Given the description of an element on the screen output the (x, y) to click on. 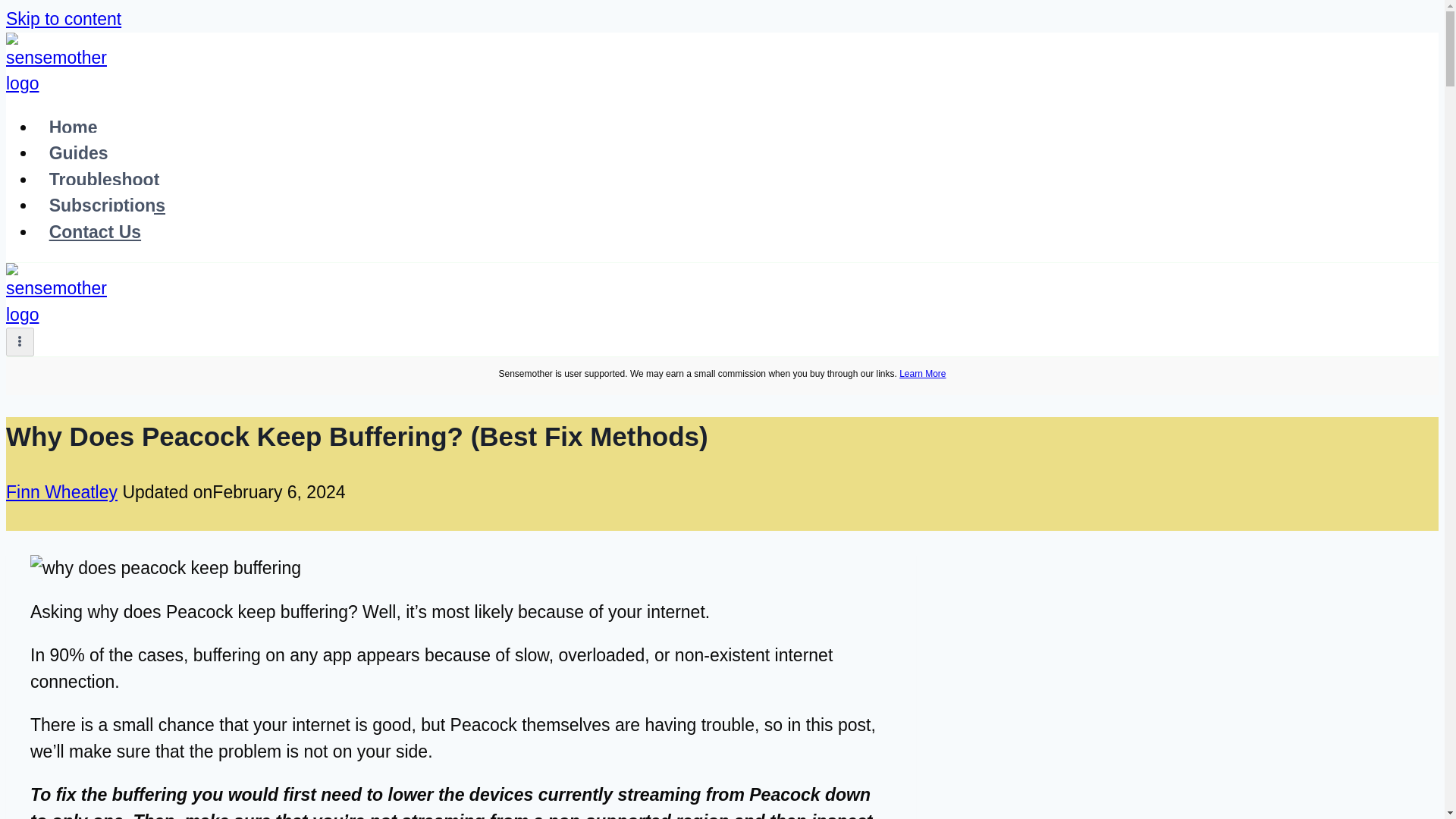
Learn More (921, 373)
Toggle Menu (19, 341)
Home (73, 127)
Skip to content (62, 18)
Finn Wheatley (61, 492)
Toggle Menu (19, 340)
Guides (78, 152)
Subscriptions (106, 205)
Contact Us (95, 231)
Skip to content (62, 18)
